Given the description of an element on the screen output the (x, y) to click on. 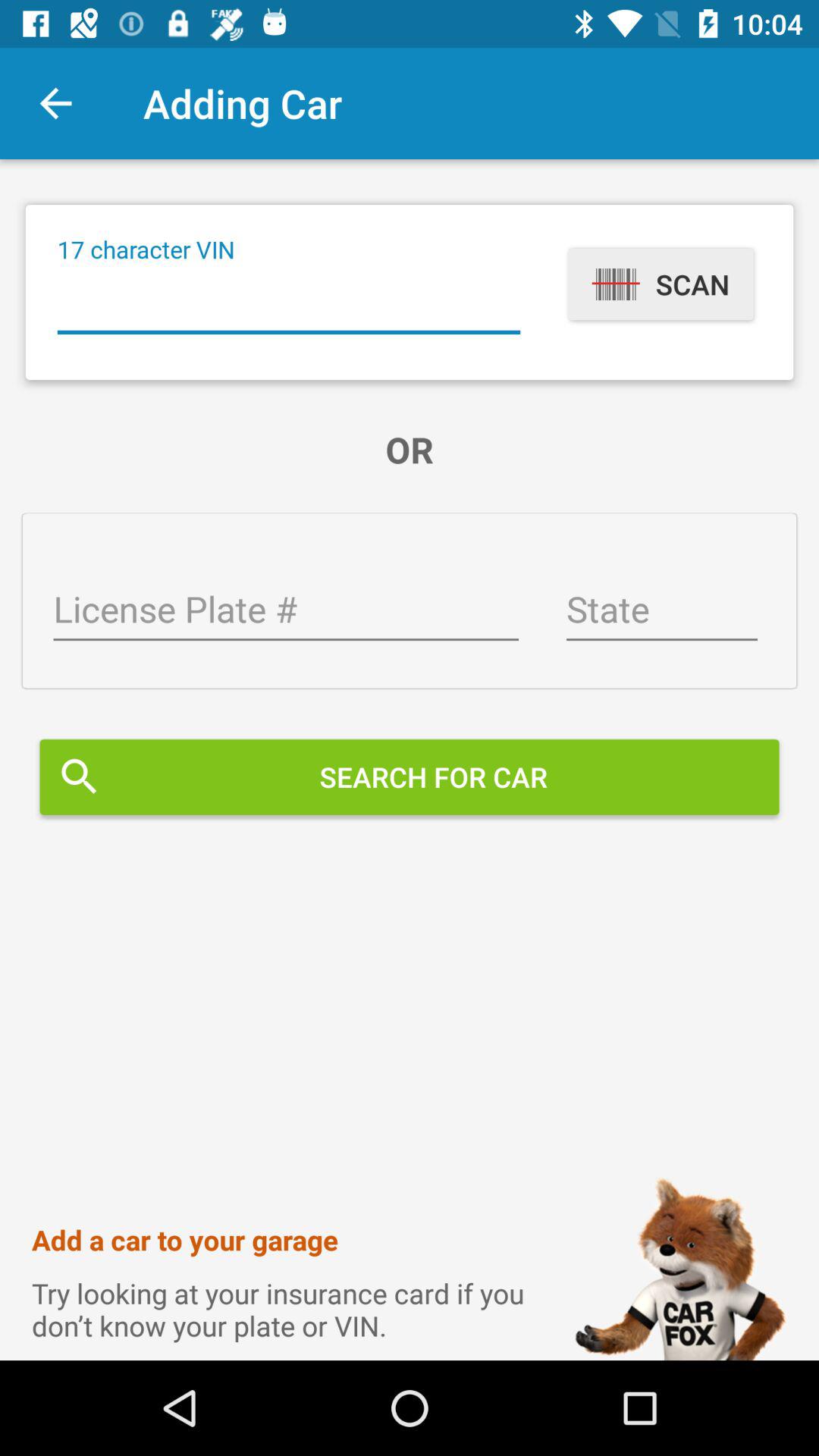
vin scan (288, 303)
